Given the description of an element on the screen output the (x, y) to click on. 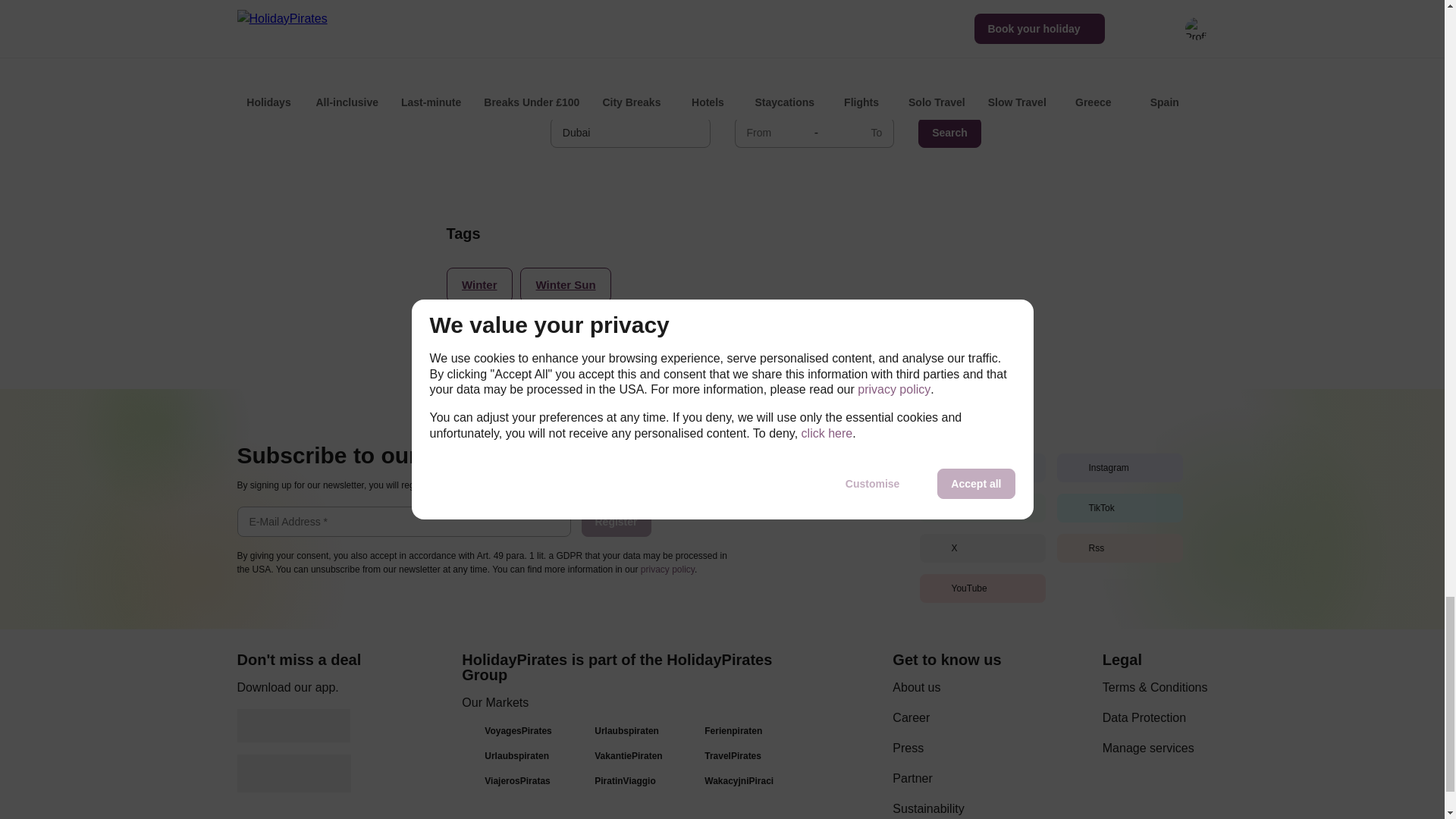
apple (292, 773)
google (292, 725)
Dubai (630, 132)
